Given the description of an element on the screen output the (x, y) to click on. 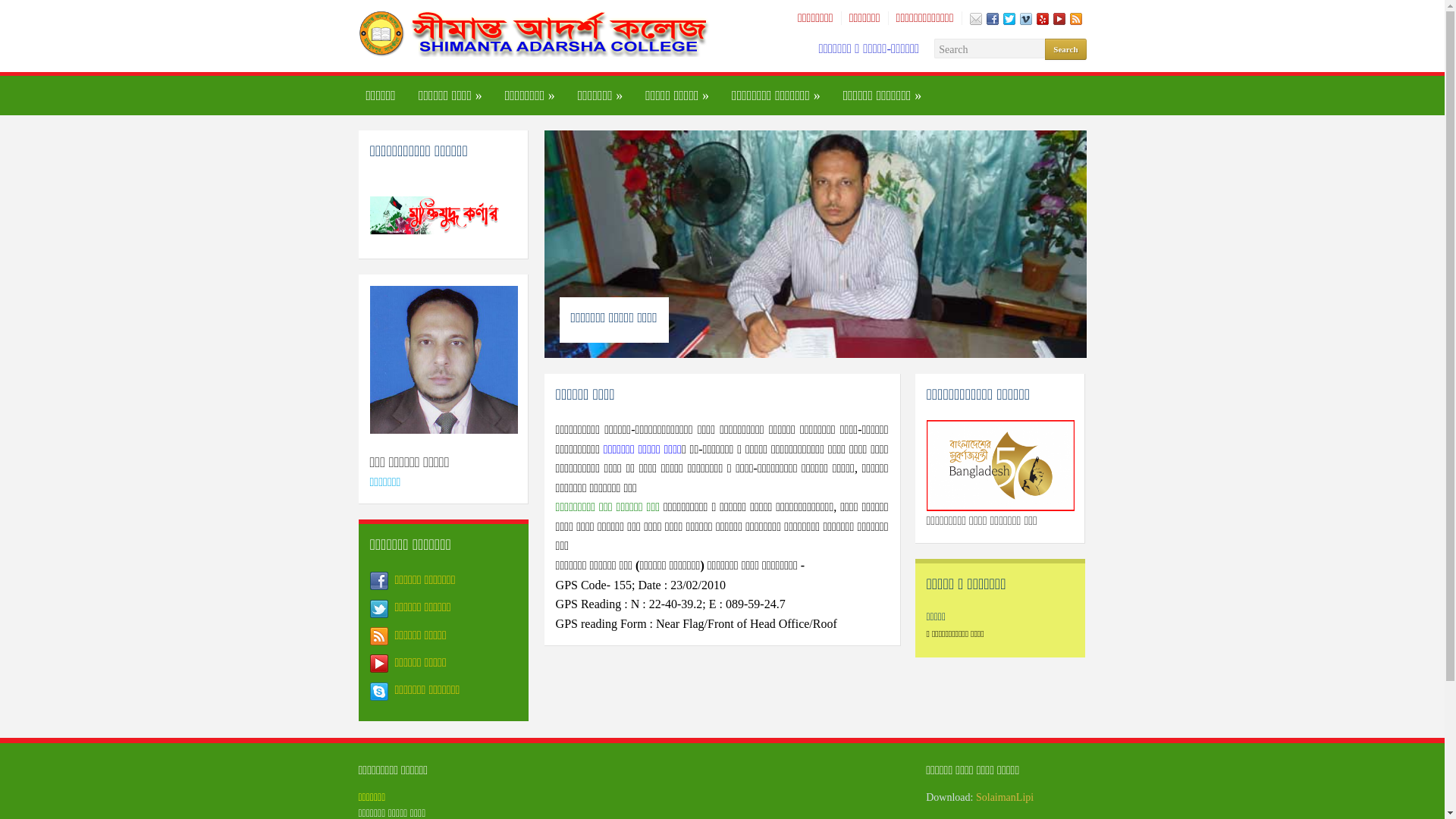
SolaimanLipi Element type: text (1004, 797)
Search Element type: text (1064, 48)
Shimanta Adarsha College Element type: hover (535, 32)
